Given the description of an element on the screen output the (x, y) to click on. 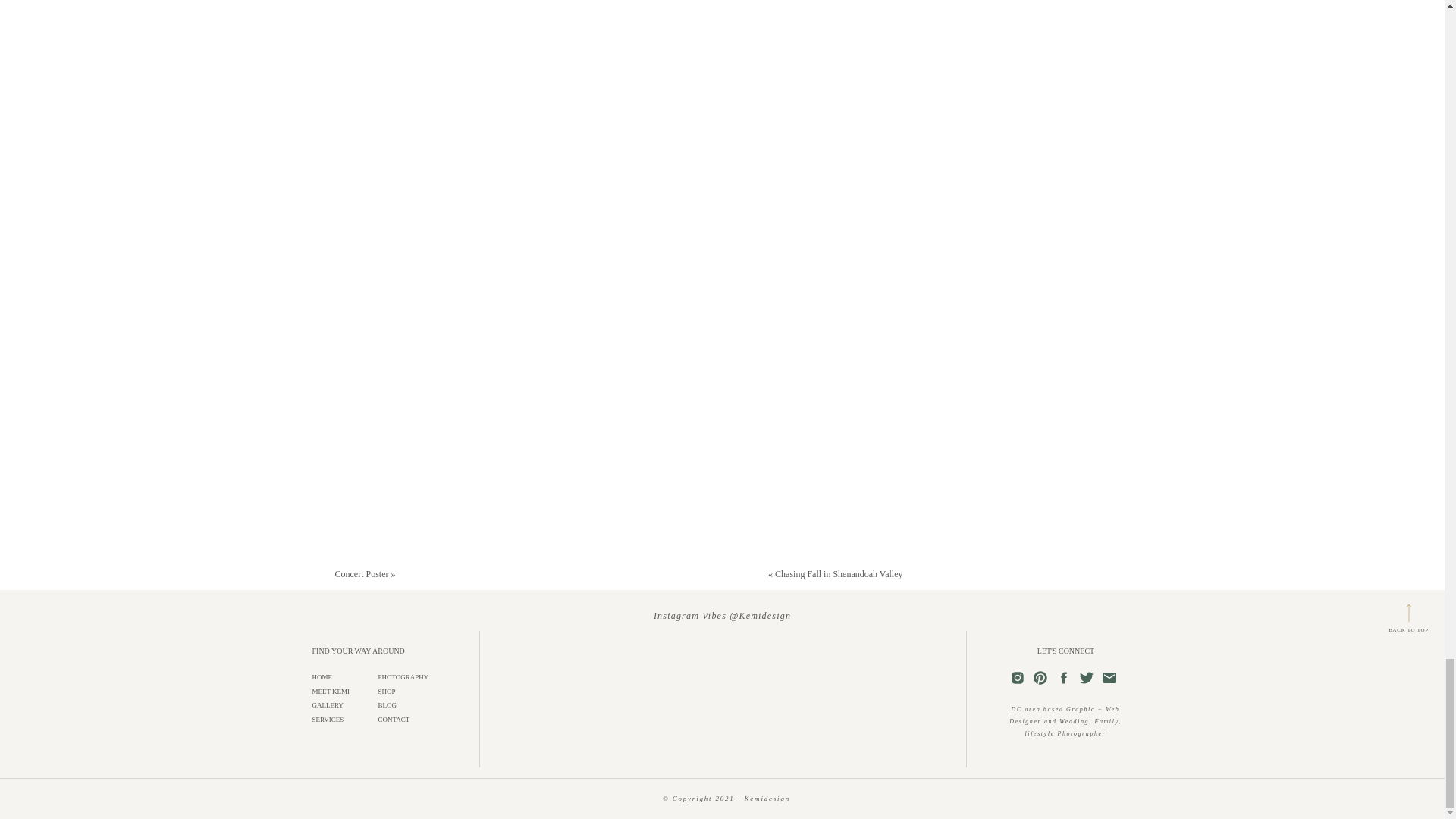
GALLERY (349, 704)
SERVICES (349, 719)
HOME (349, 676)
Concert Poster (361, 573)
Chasing Fall in Shenandoah Valley (838, 573)
CONTACT (414, 719)
LET'S CONNECT (1065, 657)
BLOG (414, 704)
PHOTOGRAPHY (414, 676)
SHOP (414, 691)
